Given the description of an element on the screen output the (x, y) to click on. 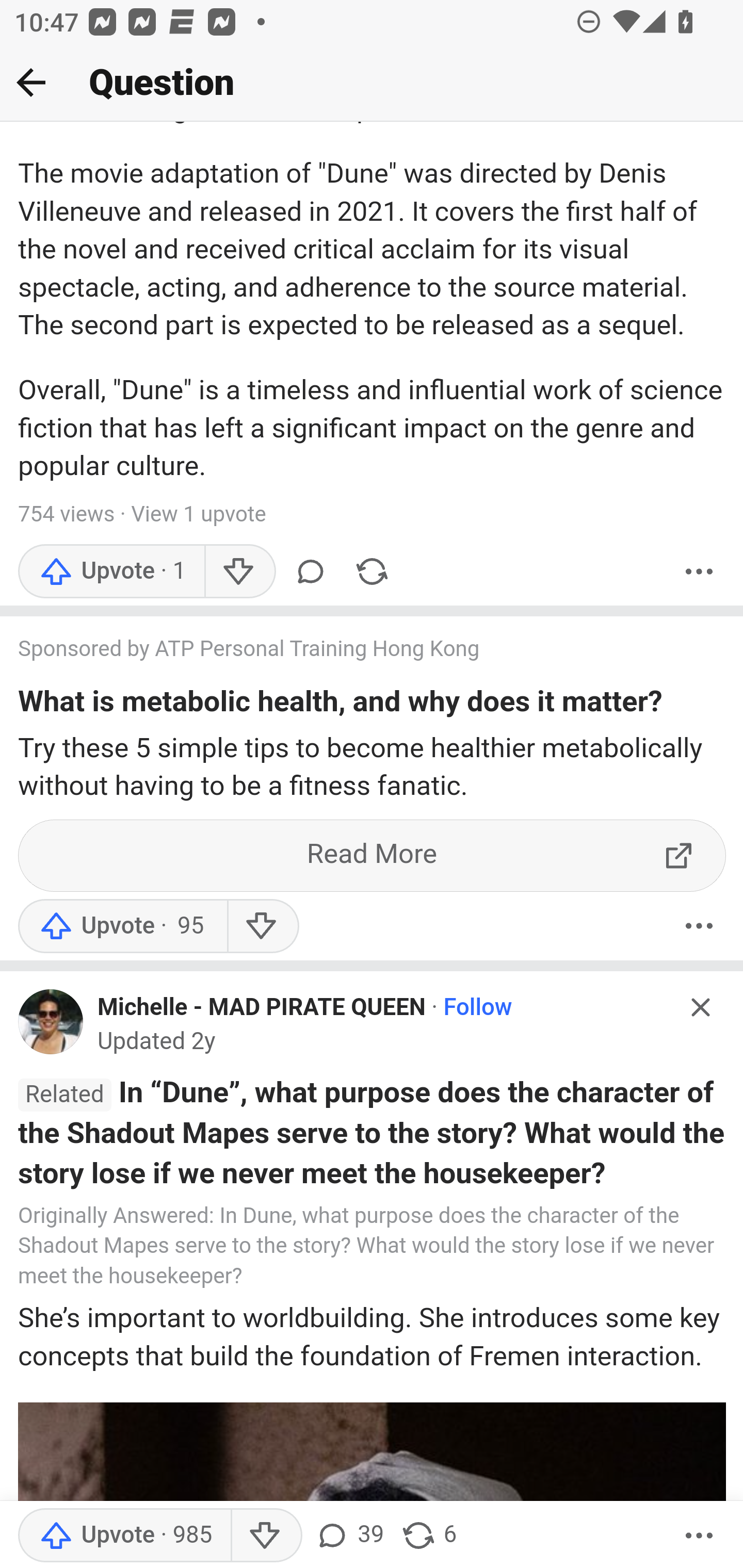
Back (30, 82)
View 1 upvote (198, 514)
Sponsored by ATP Personal Training Hong Kong (352, 651)
What is metabolic health, and why does it matter? (339, 707)
Read More ExternalLink (372, 855)
Upvote (122, 927)
Downvote (262, 927)
More (699, 927)
Hide (700, 1008)
Profile photo for Michelle - MAD PIRATE QUEEN (50, 1021)
Michelle - MAD PIRATE QUEEN (261, 1008)
Follow (477, 1008)
Upvote (124, 1535)
Downvote (266, 1535)
39 comments (349, 1535)
6 shares (428, 1535)
More (699, 1535)
